Given the description of an element on the screen output the (x, y) to click on. 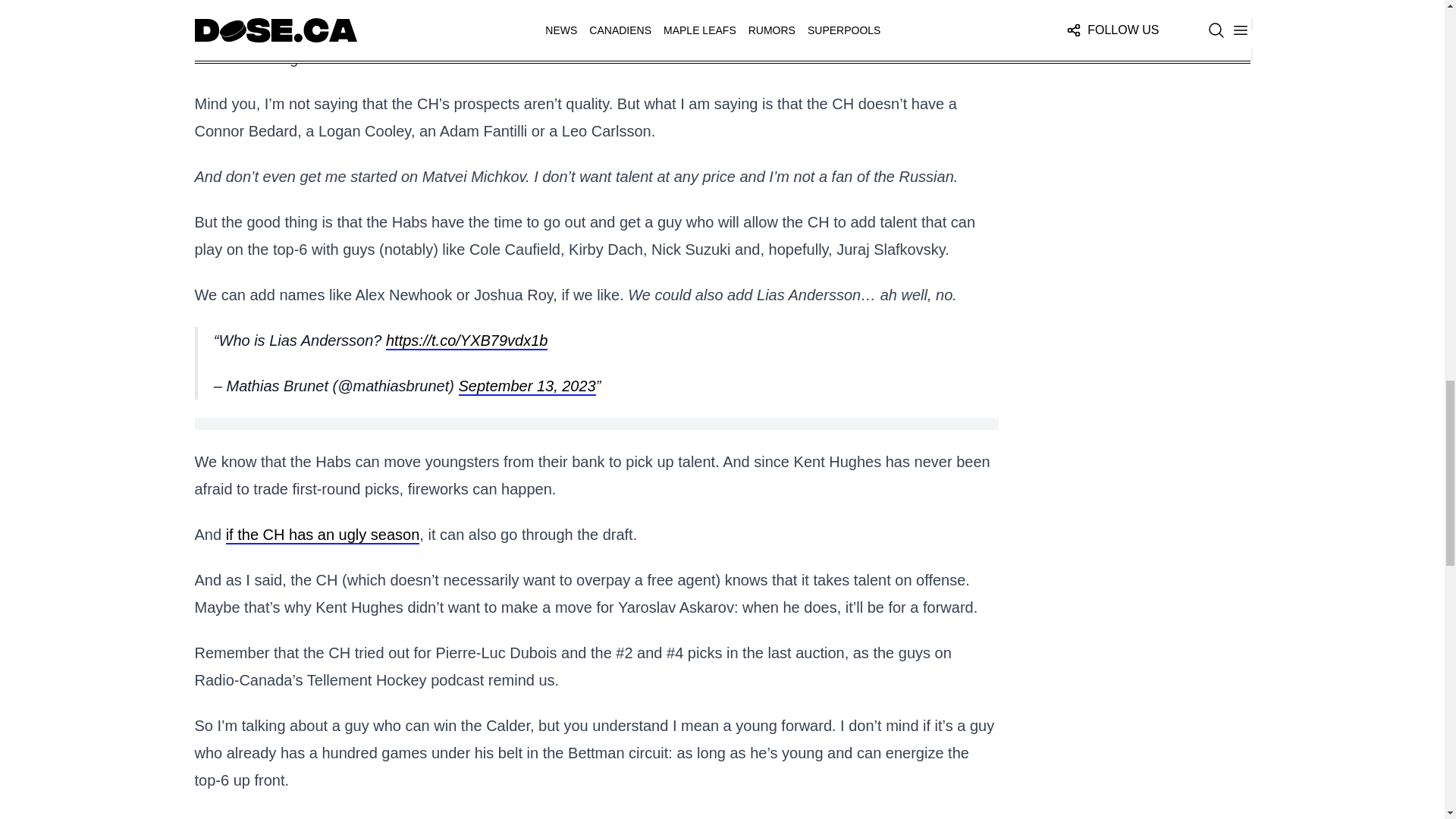
if the CH has an ugly season (322, 535)
September 13, 2023 (526, 386)
